Given the description of an element on the screen output the (x, y) to click on. 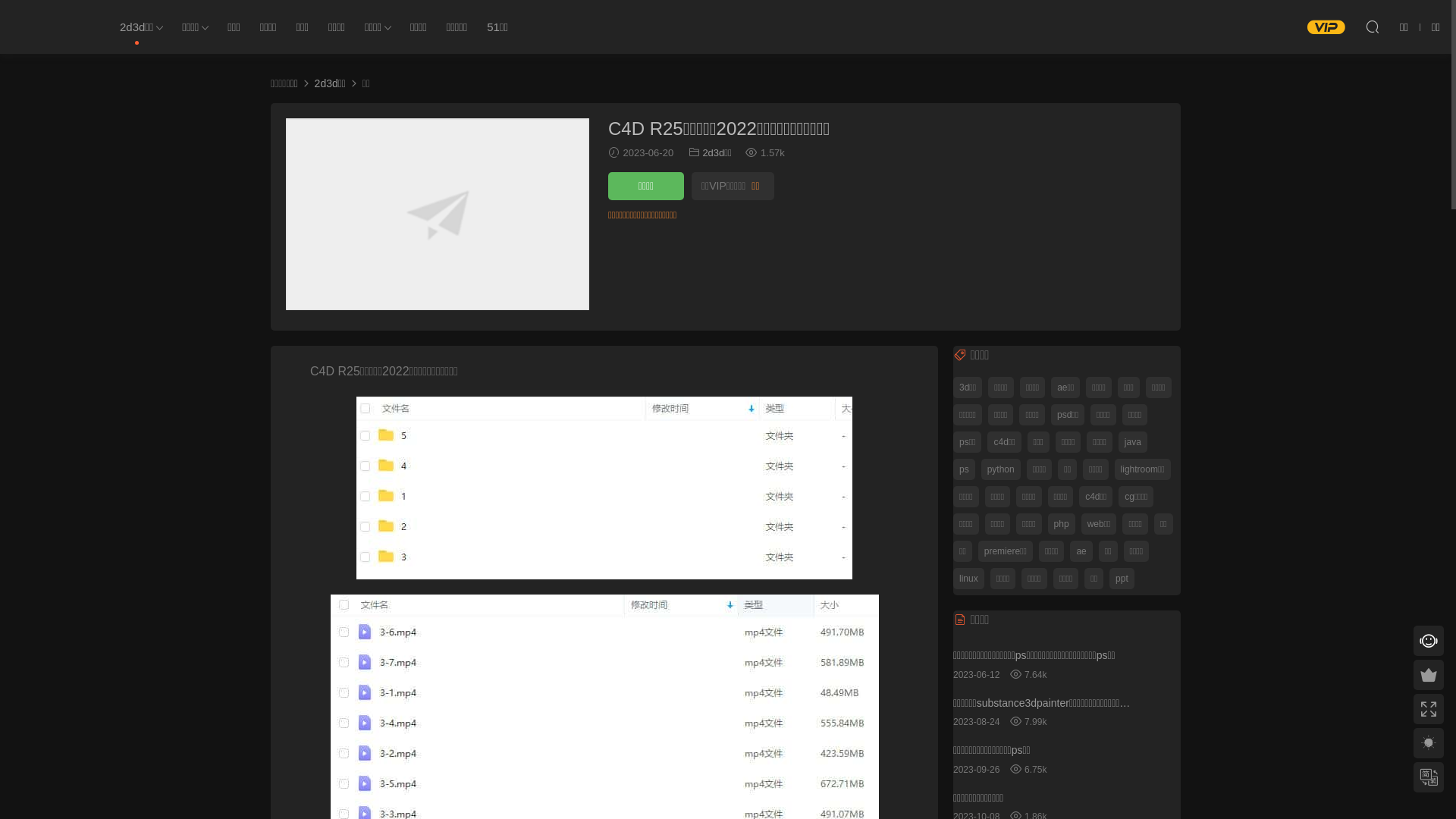
python Element type: text (1000, 468)
java Element type: text (1132, 440)
php Element type: text (1061, 522)
ae Element type: text (1081, 550)
ppt Element type: text (1121, 577)
linux Element type: text (968, 577)
ps Element type: text (964, 468)
